Given the description of an element on the screen output the (x, y) to click on. 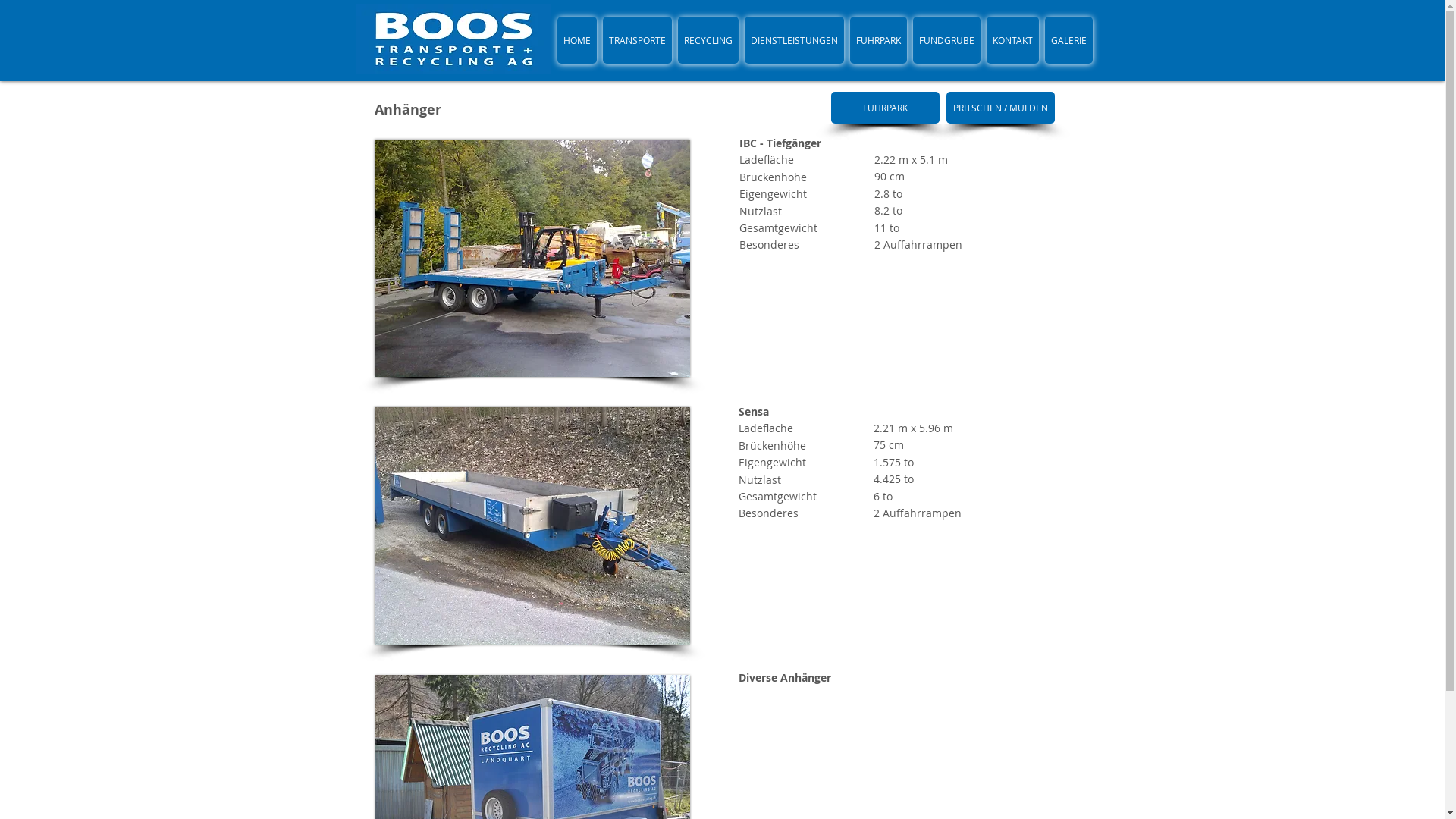
PRITSCHEN / MULDEN Element type: text (1000, 107)
FUNDGRUBE Element type: text (946, 39)
TRANSPORTE Element type: text (636, 39)
logo.jpg Element type: hover (453, 38)
RECYCLING Element type: text (707, 39)
GALERIE Element type: text (1068, 39)
HOME Element type: text (576, 39)
FUHRPARK Element type: text (877, 39)
DIENSTLEISTUNGEN Element type: text (794, 39)
KONTAKT Element type: text (1011, 39)
FUHRPARK Element type: text (885, 107)
